Given the description of an element on the screen output the (x, y) to click on. 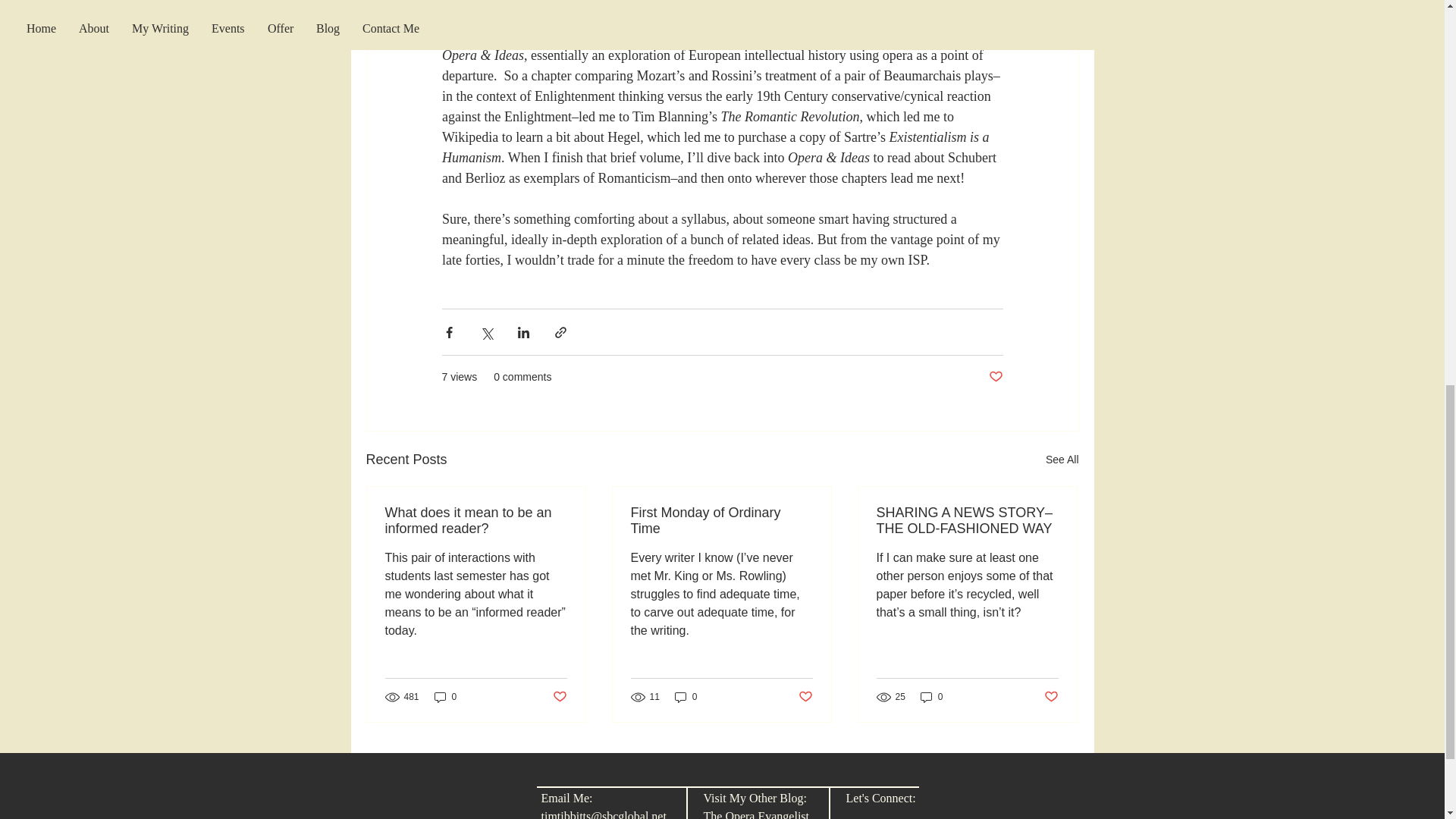
Post not marked as liked (804, 696)
Post not marked as liked (558, 696)
0 (931, 697)
0 (685, 697)
The Opera Evangelist (756, 814)
Post not marked as liked (1050, 696)
First Monday of Ordinary Time (721, 521)
0 (445, 697)
What does it mean to be an informed reader? (476, 521)
See All (1061, 459)
Post not marked as liked (995, 376)
